Given the description of an element on the screen output the (x, y) to click on. 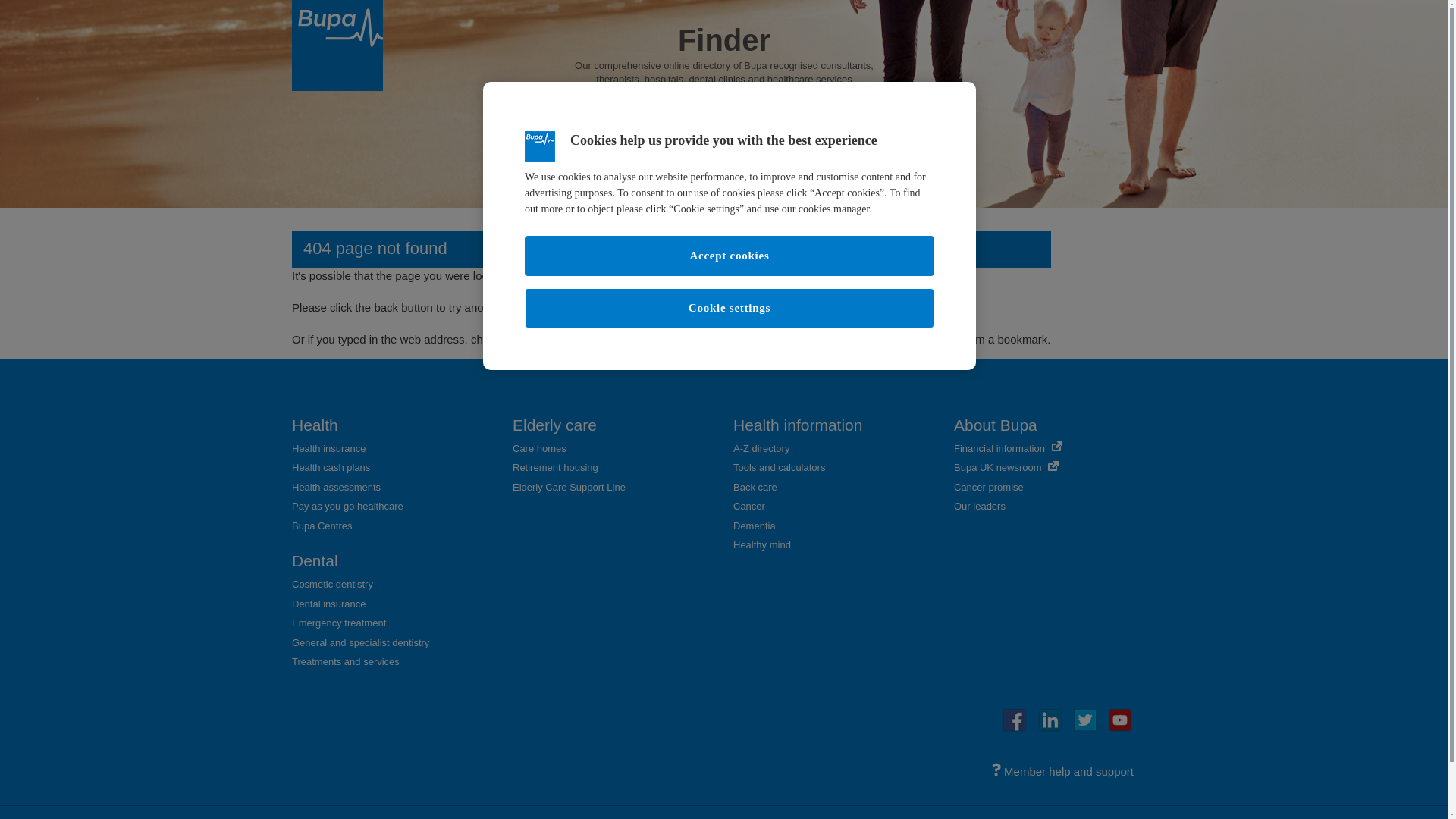
Healthy mind (761, 544)
Dementia (754, 525)
Tools and calculators (779, 467)
Emergency treatment (338, 622)
Cancer promise (988, 487)
Health information (797, 425)
Retirement housing (555, 467)
Bupa UK newsroom (1005, 467)
Care homes (539, 448)
Back care (755, 487)
Consultant and Facilities Finder homepage (700, 307)
Our leaders (979, 505)
Elderly Care Support Line (569, 487)
Health assessments (336, 487)
Treatments and services (345, 661)
